Given the description of an element on the screen output the (x, y) to click on. 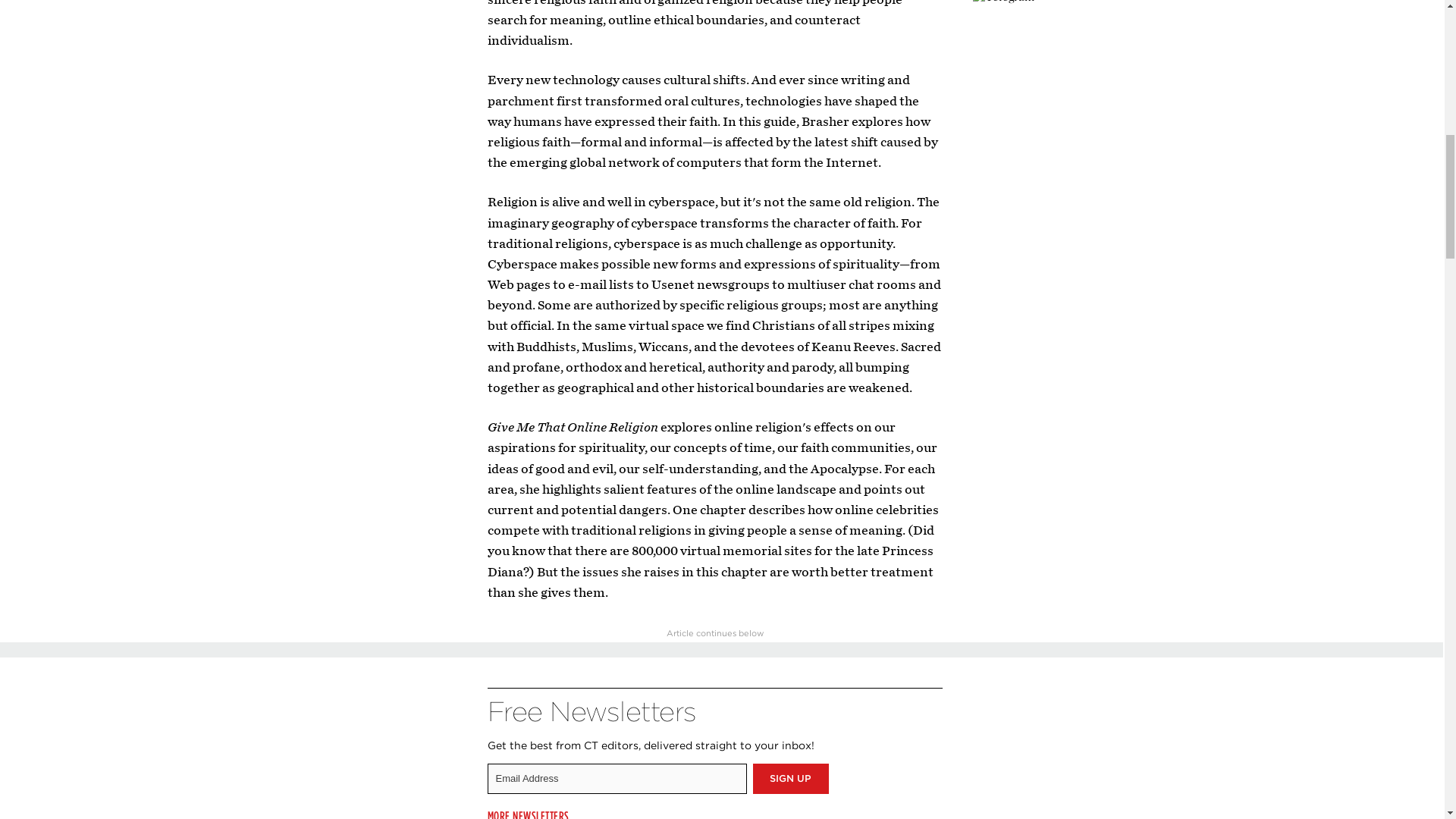
Email Address (615, 778)
Sign Up (790, 778)
